Given the description of an element on the screen output the (x, y) to click on. 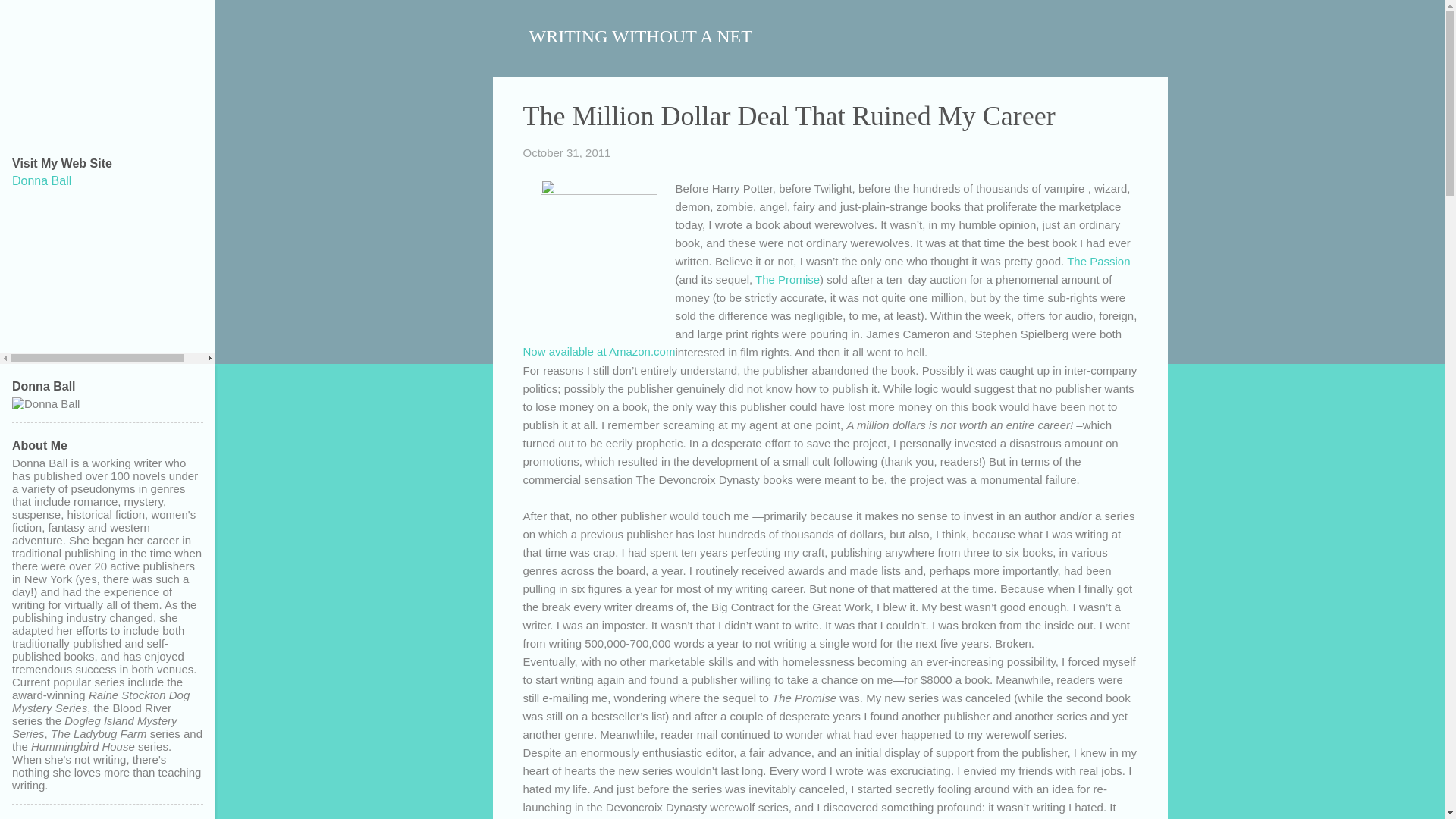
Now available at Amazon.com (598, 350)
The Passion (1098, 260)
The Promise (787, 278)
October 31, 2011 (566, 152)
Search (29, 18)
permanent link (566, 152)
WRITING WITHOUT A NET (640, 35)
